Given the description of an element on the screen output the (x, y) to click on. 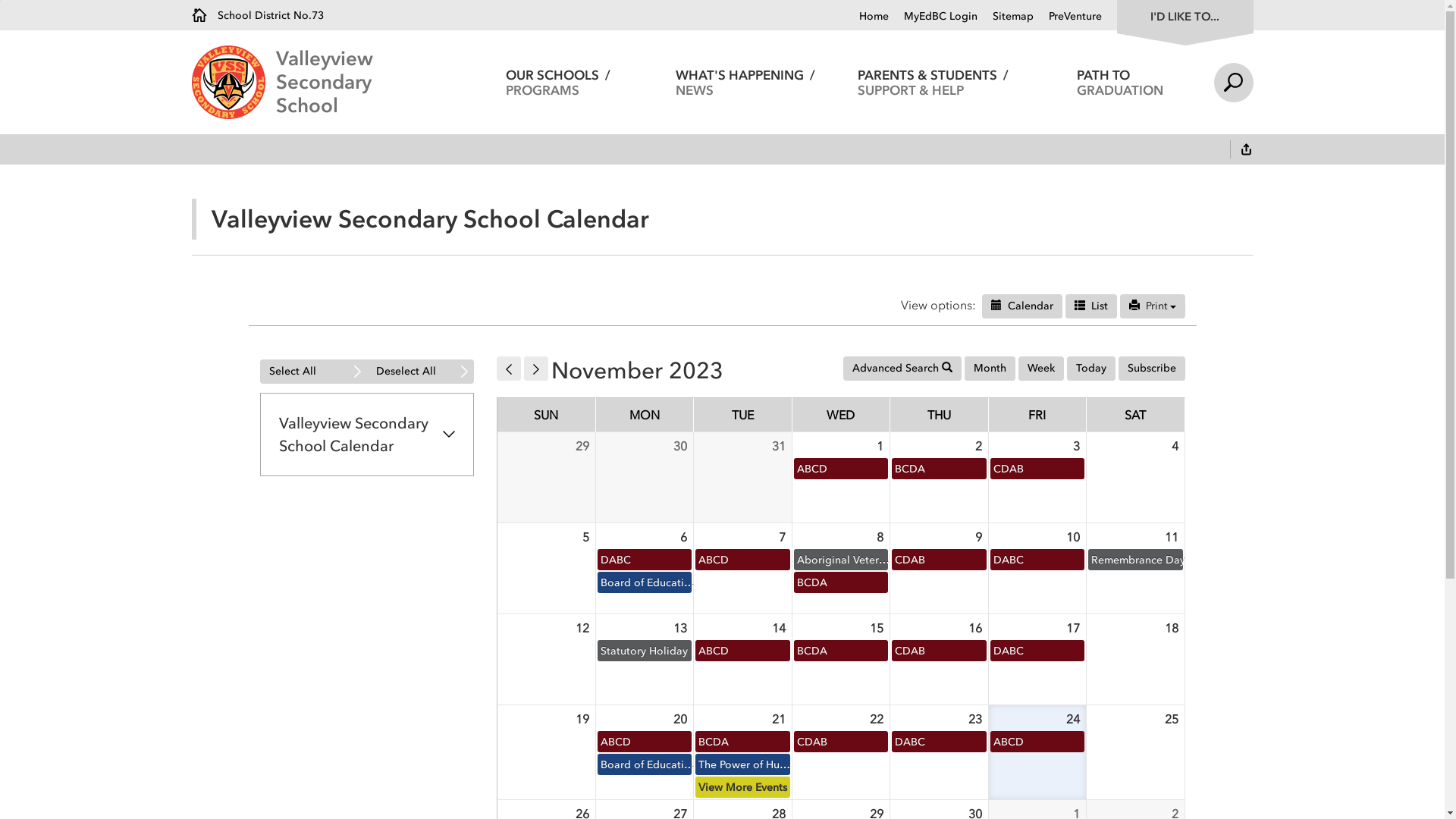
Board of Education Meeting - Mid-Term Inaugural Element type: text (644, 582)
Board of Education Regular Meeting Element type: text (644, 764)
Icon - End Date Element type: hover (1078, 304)
BCDA Element type: text (742, 741)
BCDA Element type: text (840, 582)
Month Element type: text (989, 368)
Valleyview Secondary
School Element type: text (370, 82)
Today Element type: text (1090, 368)
Icon - Search Element type: hover (946, 366)
DABC Element type: text (1037, 559)
DABC Element type: text (644, 559)
Icon - Start Date
  Calendar Element type: text (1021, 306)
DABC Element type: text (1037, 650)
Advanced Search
Icon - Search Element type: text (902, 368)
Icon - Print
  Print  Element type: text (1151, 306)
Remembrance Day Element type: text (1135, 559)
CDAB Element type: text (840, 741)
Deselect All Element type: text (420, 371)
Click to return to the homepage Element type: hover (233, 82)
Home Element type: text (873, 15)
ABCD Element type: text (840, 468)
Icon - End Date
  List Element type: text (1090, 306)
ABCD Element type: text (1037, 741)
WHAT'S HAPPENING
NEWS Element type: text (745, 82)
Skip to Content Element type: text (0, 0)
I'D LIKE TO... Element type: text (1184, 15)
Sitemap Element type: text (1004, 15)
PARENTS & STUDENTS
SUPPORT & HELP Element type: text (932, 82)
CDAB Element type: text (939, 650)
BCDA Element type: text (840, 650)
ABCD Element type: text (742, 650)
The Power of Human Connection Element type: text (742, 764)
ABCD Element type: text (742, 559)
PreVenture Element type: text (1066, 15)
Statutory Holiday Element type: text (644, 650)
ABCD Element type: text (644, 741)
DABC Element type: text (939, 741)
CDAB Element type: text (939, 559)
Aboriginal Veterans Day Element type: text (840, 559)
MyEdBC Login Element type: text (932, 15)
Icon - Start Date Element type: hover (995, 304)
Week Element type: text (1040, 368)
BCDA Element type: text (939, 468)
Select All Element type: text (312, 371)
Search Element type: text (1232, 81)
School District No.73 Element type: text (257, 15)
OUR SCHOOLS
PROGRAMS Element type: text (557, 82)
Subscribe Element type: text (1150, 368)
View More Events Element type: text (742, 786)
  Element type: text (1245, 150)
PATH TO
GRADUATION Element type: text (1120, 82)
CDAB Element type: text (1037, 468)
Icon - Print Element type: hover (1133, 304)
